Given the description of an element on the screen output the (x, y) to click on. 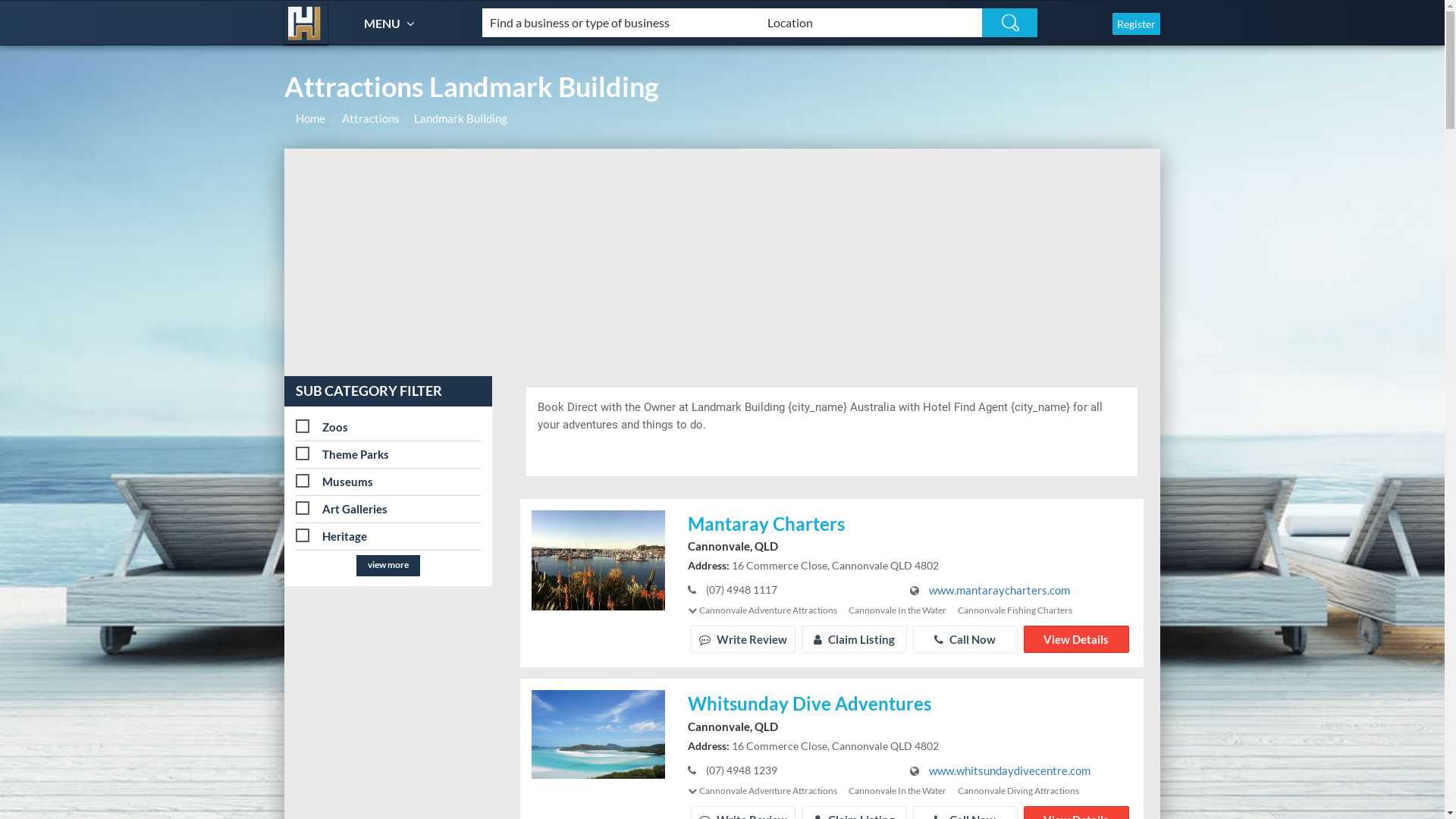
More info on Mantaray Charters Element type: hover (597, 557)
Advertisement Element type: hover (722, 262)
Home Element type: text (310, 118)
Cannonvale Adventure Attractions Element type: text (768, 609)
Cannonvale In the Water Element type: text (897, 609)
view more Element type: text (388, 565)
Hotel Find - Accommodation Deals within Australia Element type: hover (305, 21)
Cannonvale Fishing Charters Element type: text (1014, 609)
Whitsunday Dive Adventures Element type: text (909, 704)
Claim Listing Element type: text (853, 638)
Landmark Building Element type: text (460, 118)
MENU Element type: text (390, 22)
Mantaray Charters Element type: text (909, 524)
More info on Whitsunday Dive Adventures Element type: hover (597, 732)
Write Review Element type: text (742, 638)
Cannonvale In the Water Element type: text (897, 790)
Attractions Element type: text (370, 118)
Register Element type: text (1136, 23)
Cannonvale Diving Attractions Element type: text (1018, 790)
View Details Element type: text (1075, 638)
Call Now Element type: text (965, 638)
www.mantaraycharters.com Element type: text (999, 589)
Cannonvale Adventure Attractions Element type: text (768, 790)
www.whitsundaydivecentre.com Element type: text (1009, 770)
